Given the description of an element on the screen output the (x, y) to click on. 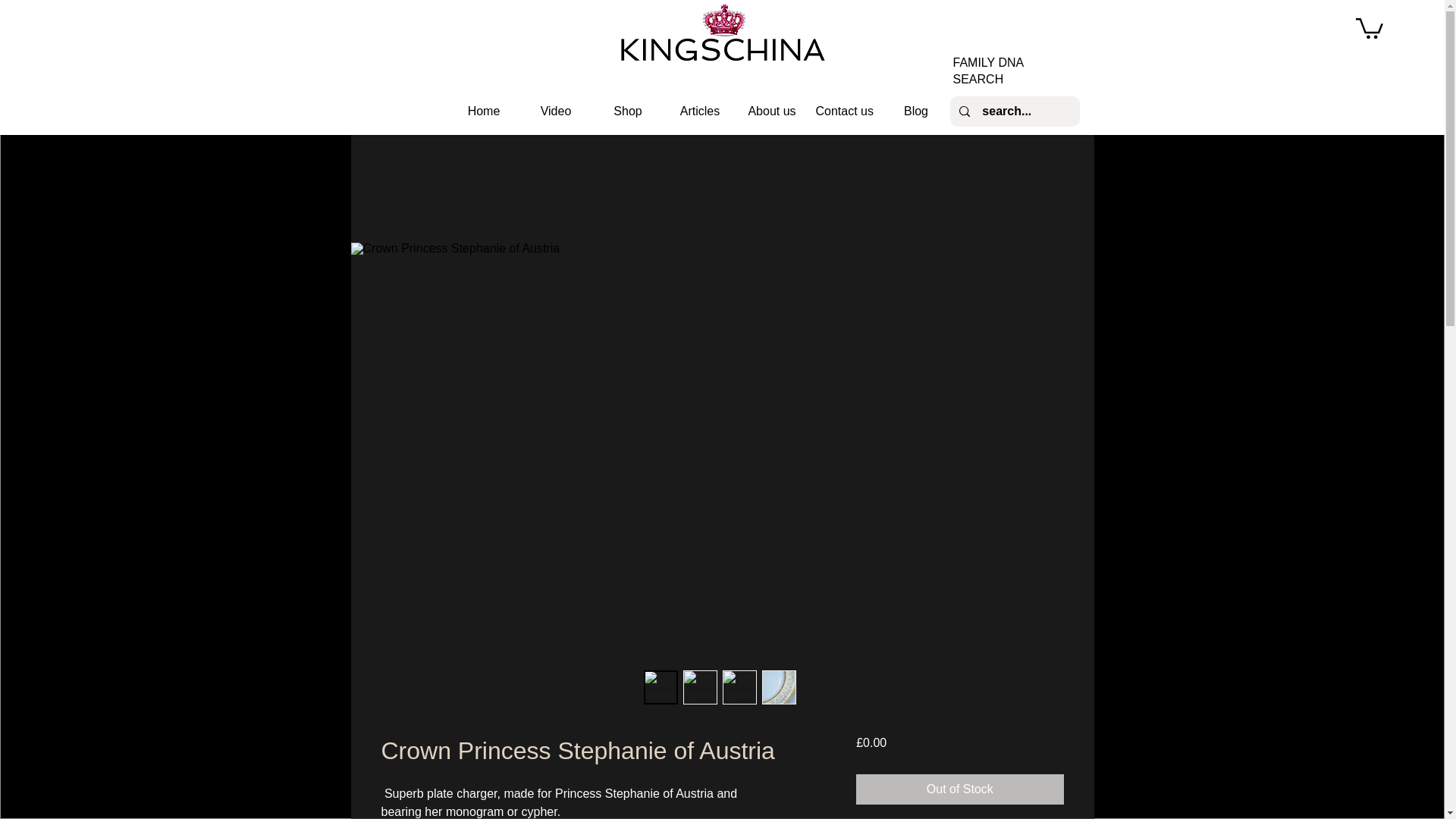
Contact us (844, 110)
Home (482, 110)
Video (555, 110)
Out of Stock (959, 788)
About us (771, 110)
Blog (915, 110)
C E R A M I C - S T U D I O (166, 213)
